Given the description of an element on the screen output the (x, y) to click on. 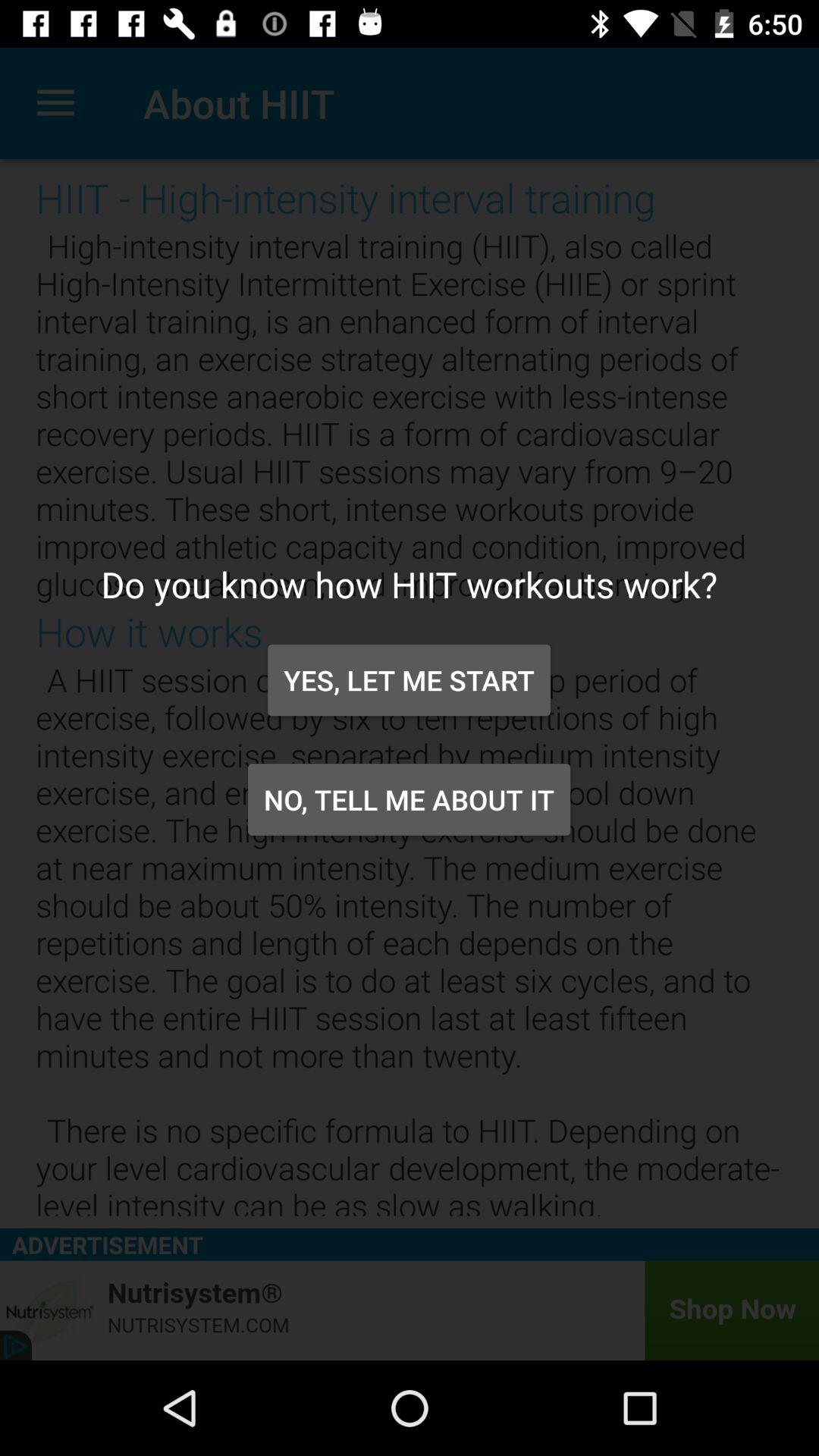
choose the icon below the do you know item (408, 680)
